Given the description of an element on the screen output the (x, y) to click on. 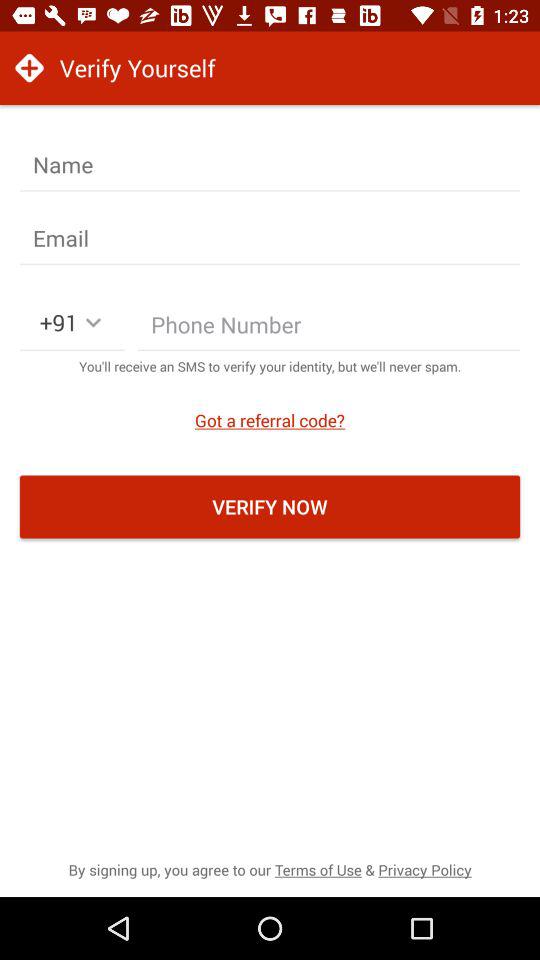
swipe until verify now (269, 506)
